Given the description of an element on the screen output the (x, y) to click on. 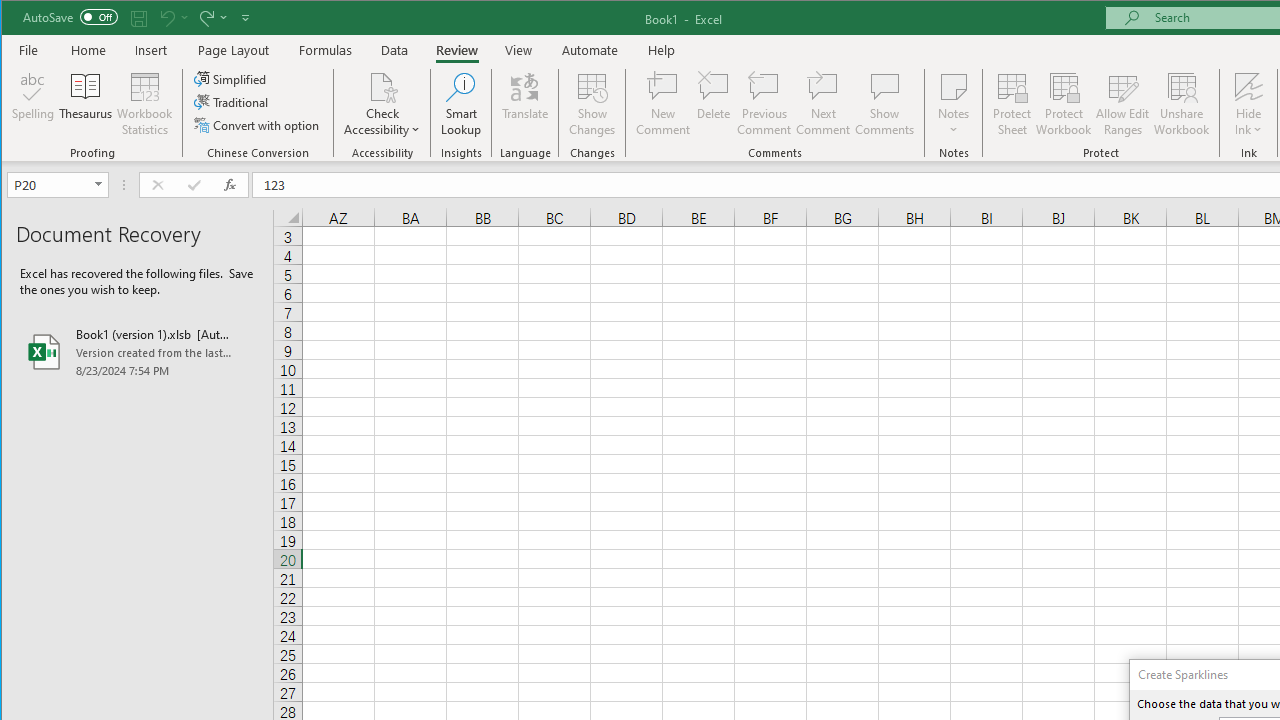
Protect Sheet... (1012, 104)
Thesaurus... (86, 104)
Notes (954, 104)
Show Changes (592, 104)
Allow Edit Ranges (1123, 104)
